Given the description of an element on the screen output the (x, y) to click on. 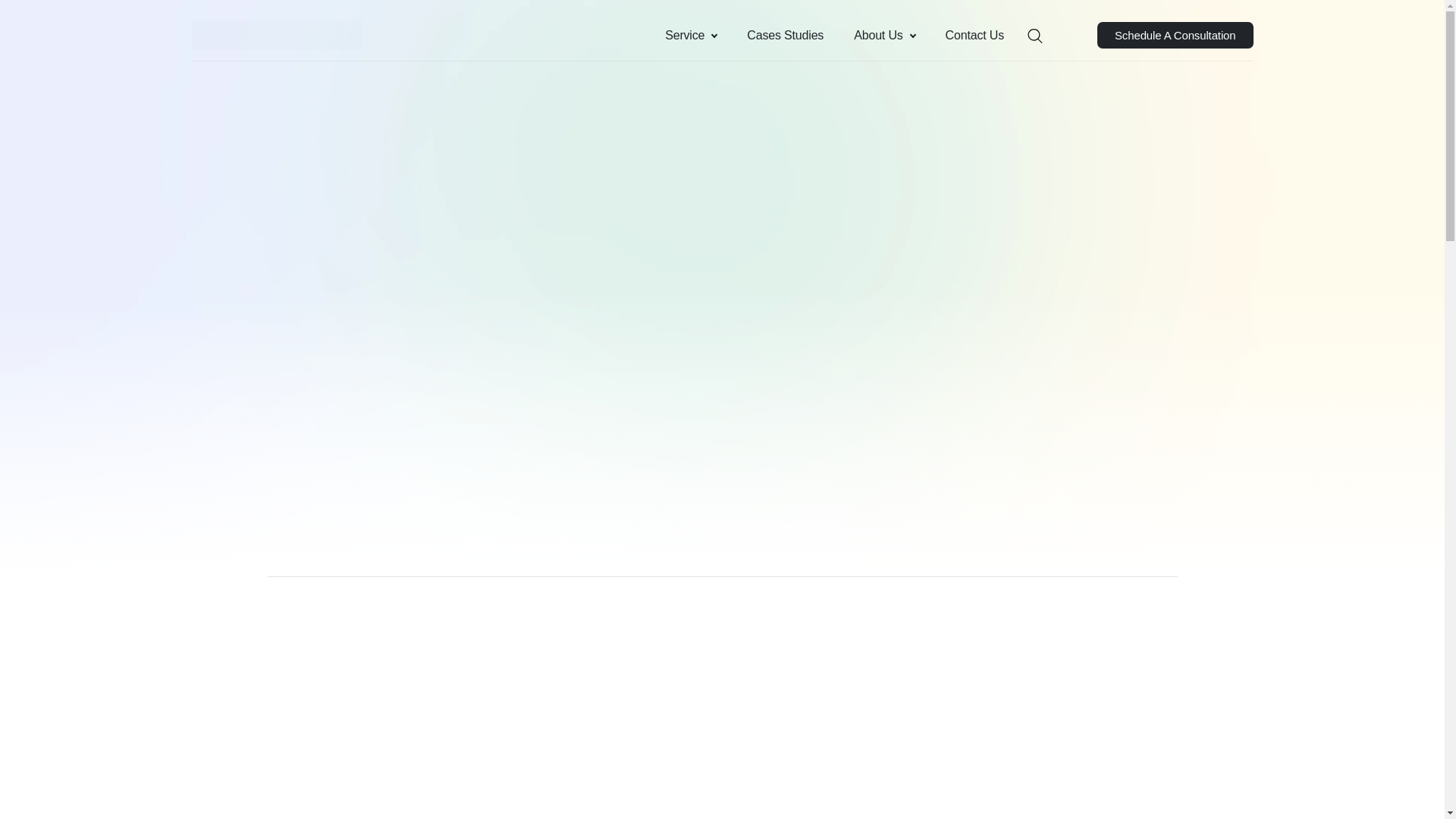
Contact Us (974, 34)
Cases Studies (785, 34)
Schedule A Consultation (1175, 34)
Service (690, 34)
Search (16, 16)
About Us (884, 34)
